Given the description of an element on the screen output the (x, y) to click on. 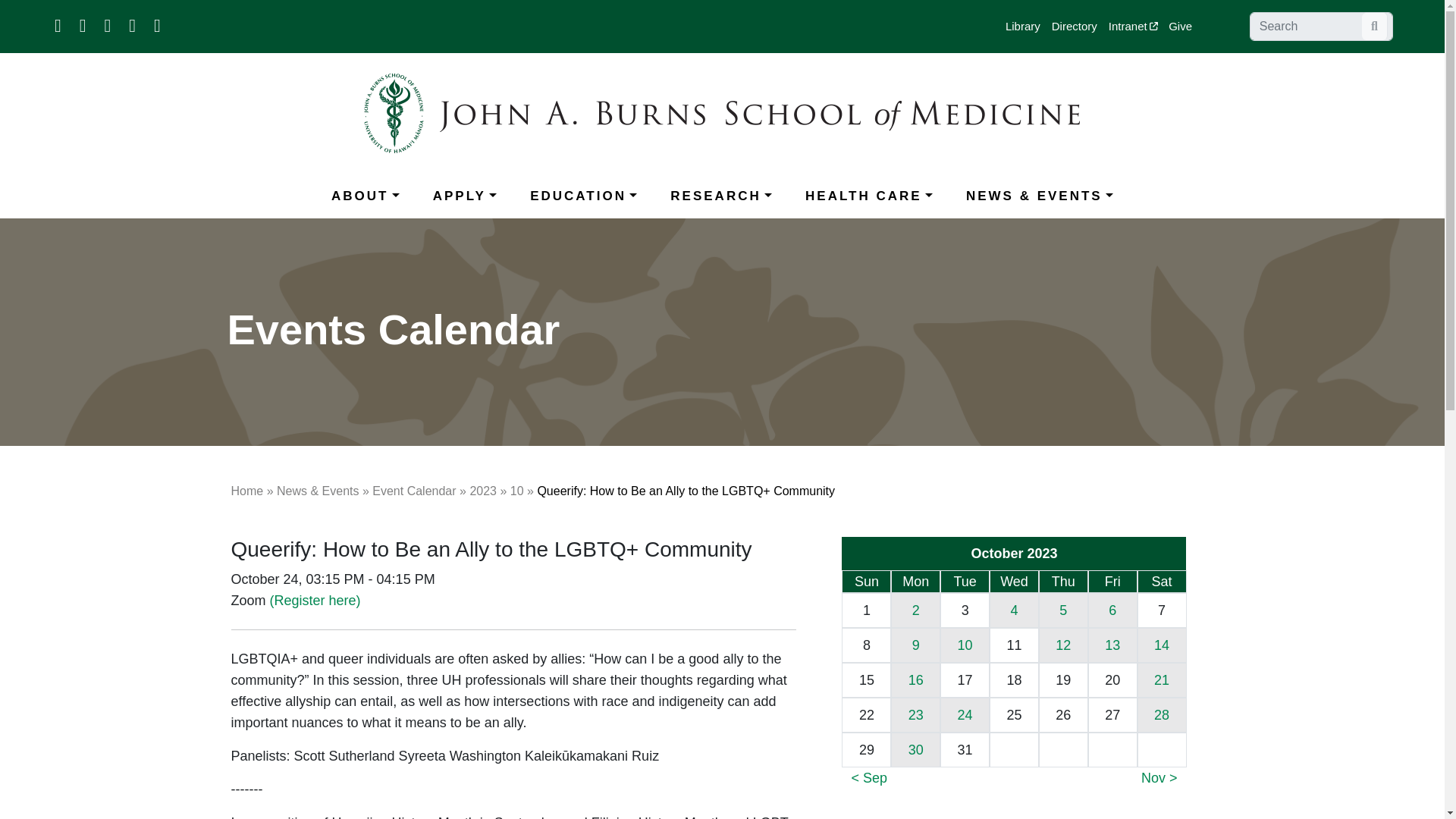
RESEARCH (721, 196)
Give (1186, 27)
Directory (1079, 27)
APPLY (464, 196)
ABOUT (365, 196)
Library (1028, 27)
EDUCATION (583, 196)
